Given the description of an element on the screen output the (x, y) to click on. 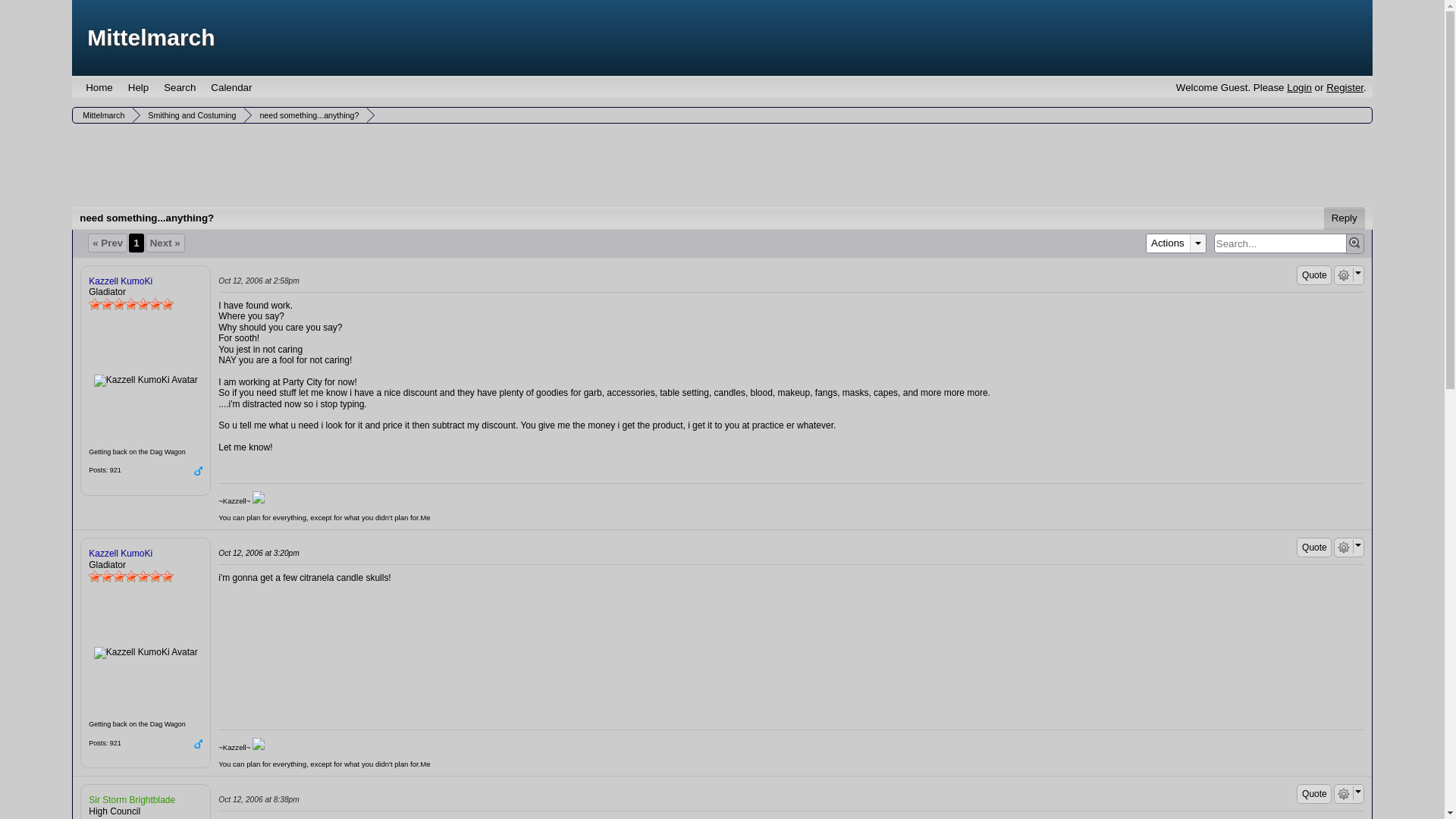
Login (1299, 87)
Reply (1344, 218)
Post Options (1343, 547)
Mittelmarch (150, 37)
Kazzell KumoKi (145, 653)
Smithing and Costuming (189, 114)
Male (197, 470)
Register (1344, 87)
Home (99, 87)
Kazzell KumoKi (145, 380)
Post Options (1343, 275)
Search (179, 87)
Male (197, 743)
